Given the description of an element on the screen output the (x, y) to click on. 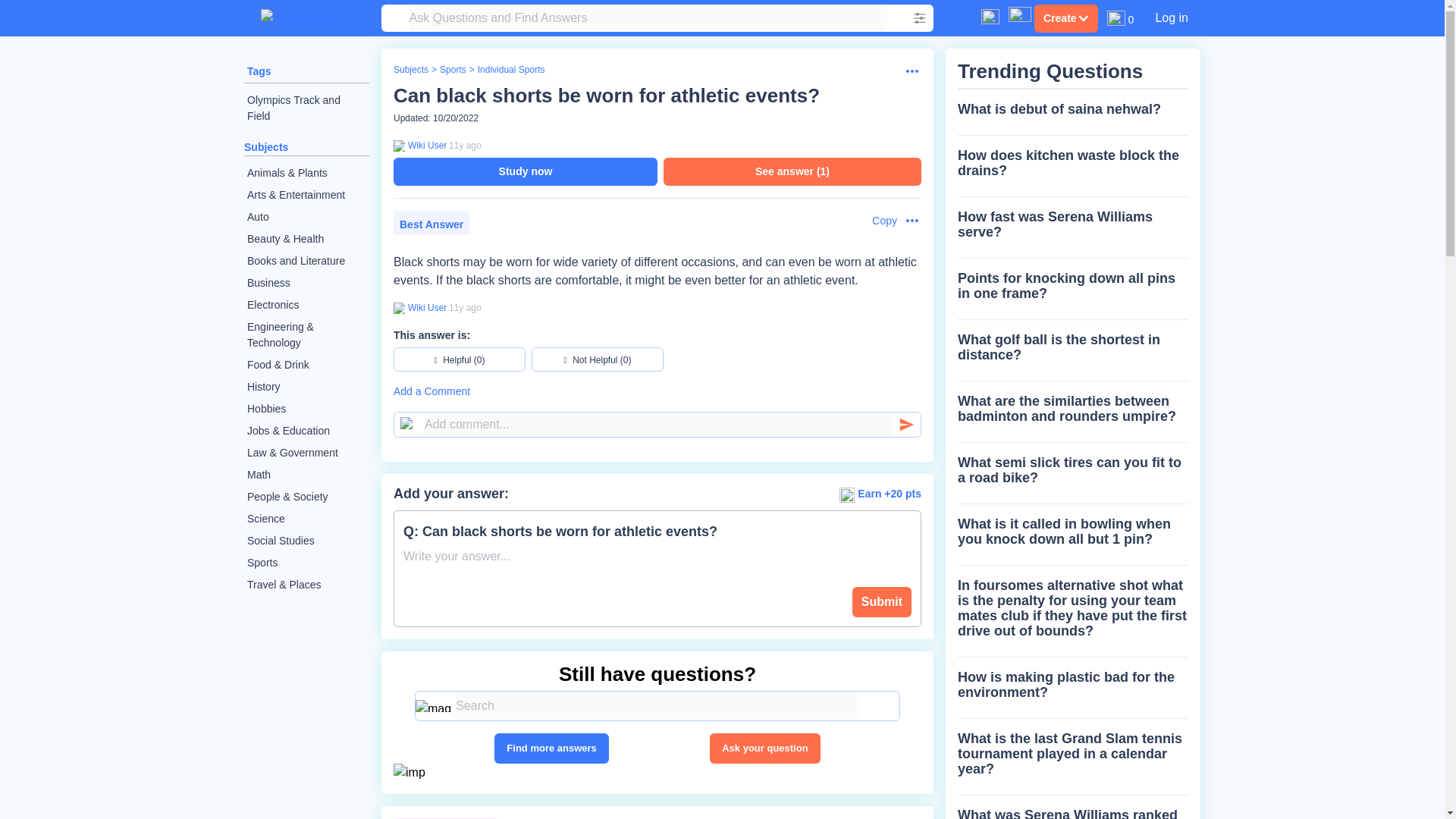
Hobbies (306, 409)
Subjects (266, 146)
Olympics Track and Field (306, 108)
Social Studies (306, 540)
Sports (452, 69)
2013-07-25 22:07:17 (464, 307)
Auto (306, 217)
Subjects (410, 69)
2013-07-25 22:07:17 (464, 145)
Study now (525, 171)
Science (306, 518)
Find more answers (551, 748)
Sports (306, 563)
Individual Sports (510, 69)
Log in (1170, 17)
